Given the description of an element on the screen output the (x, y) to click on. 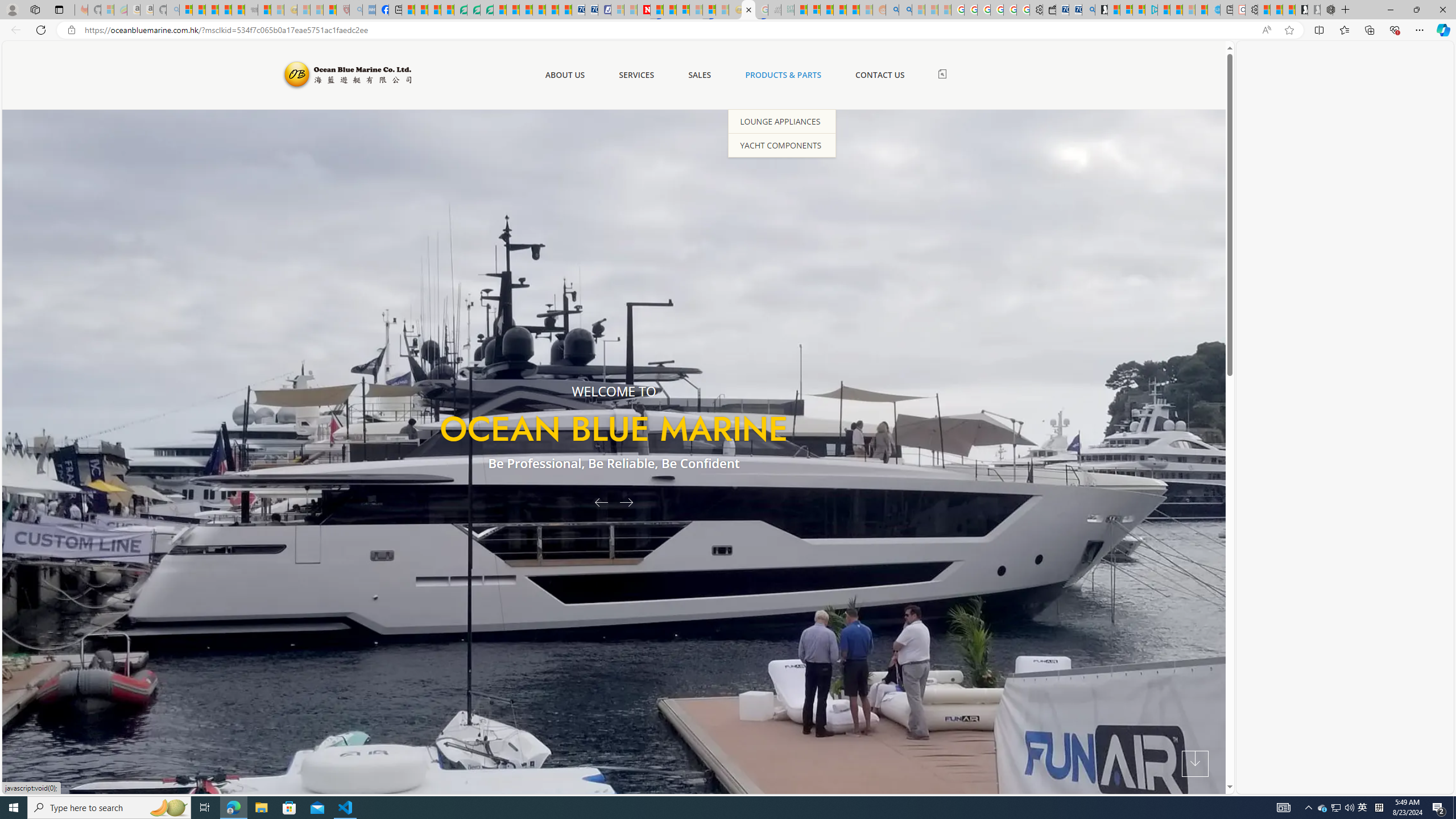
Nordace - Nordace Siena Is Not An Ordinary Backpack (1327, 9)
Microsoft-Report a Concern to Bing - Sleeping (107, 9)
SERVICES (636, 74)
CONTACT US (879, 74)
Microsoft Word - consumer-privacy address update 2.2021 (486, 9)
